Given the description of an element on the screen output the (x, y) to click on. 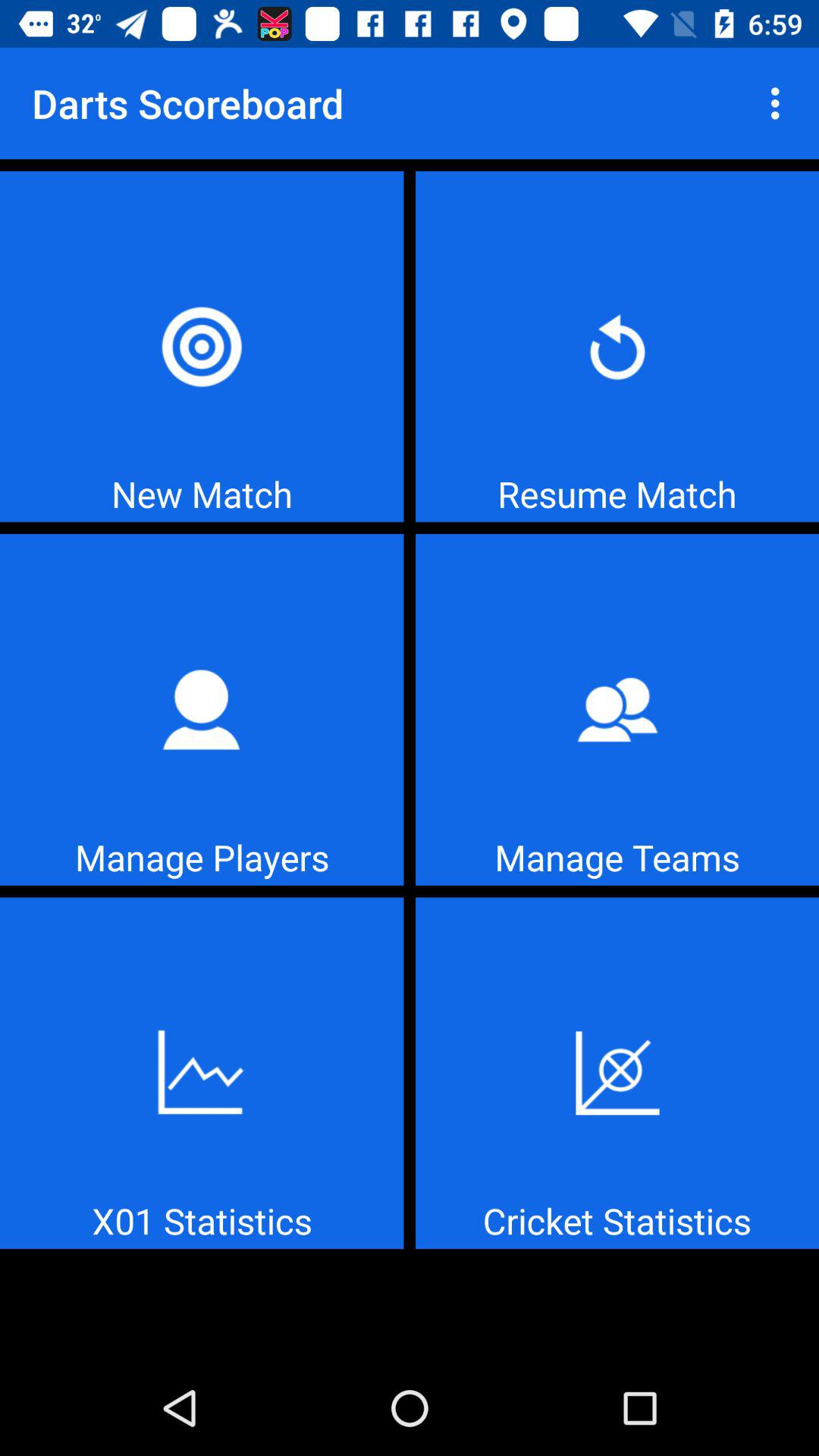
turn on app next to darts scoreboard icon (779, 103)
